Given the description of an element on the screen output the (x, y) to click on. 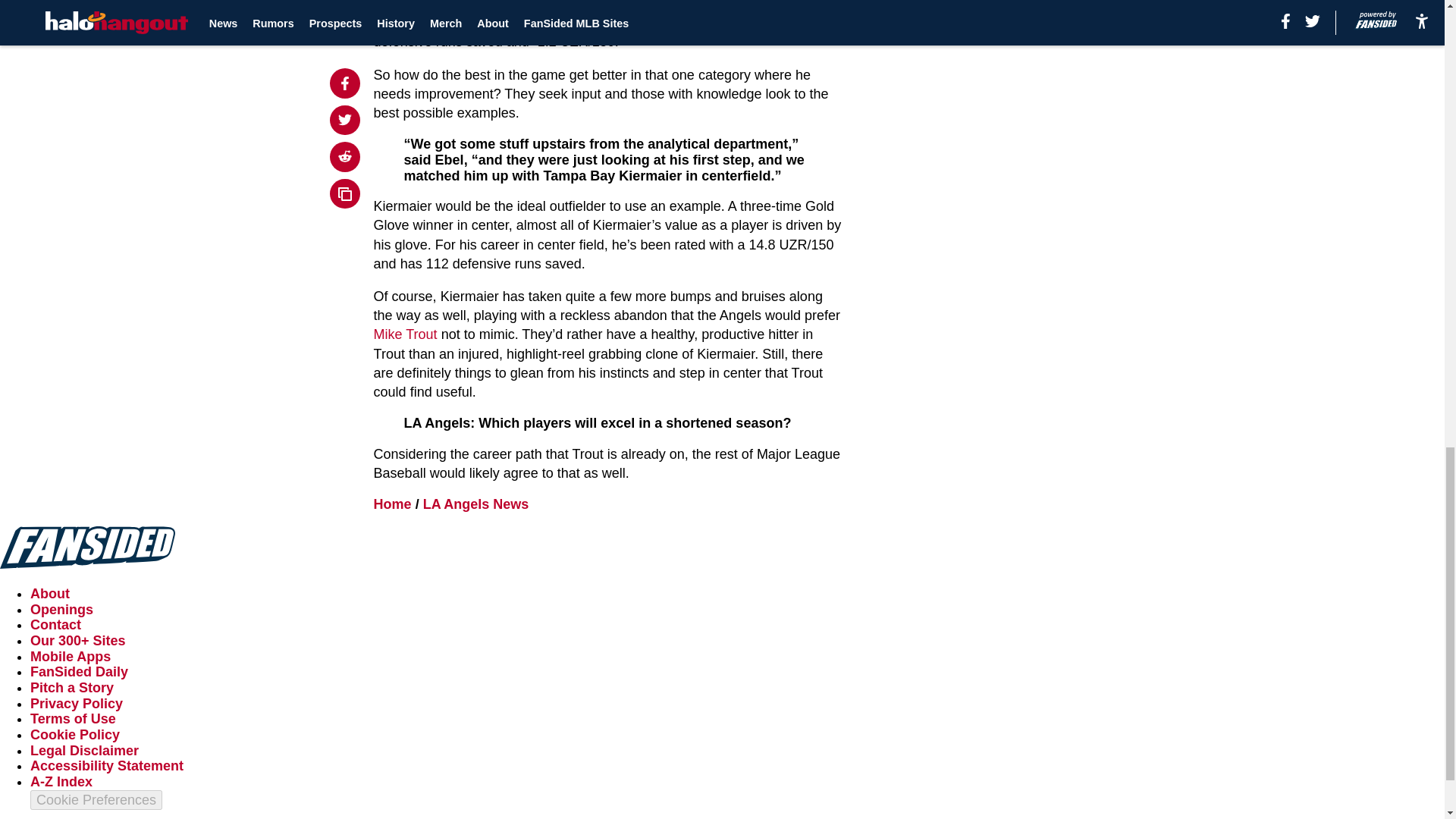
Openings (61, 609)
About (49, 593)
Mobile Apps (70, 656)
FanSided Daily (79, 671)
LA Angels News (476, 503)
Contact (55, 624)
Home (393, 503)
Mike Trout (406, 334)
